Given the description of an element on the screen output the (x, y) to click on. 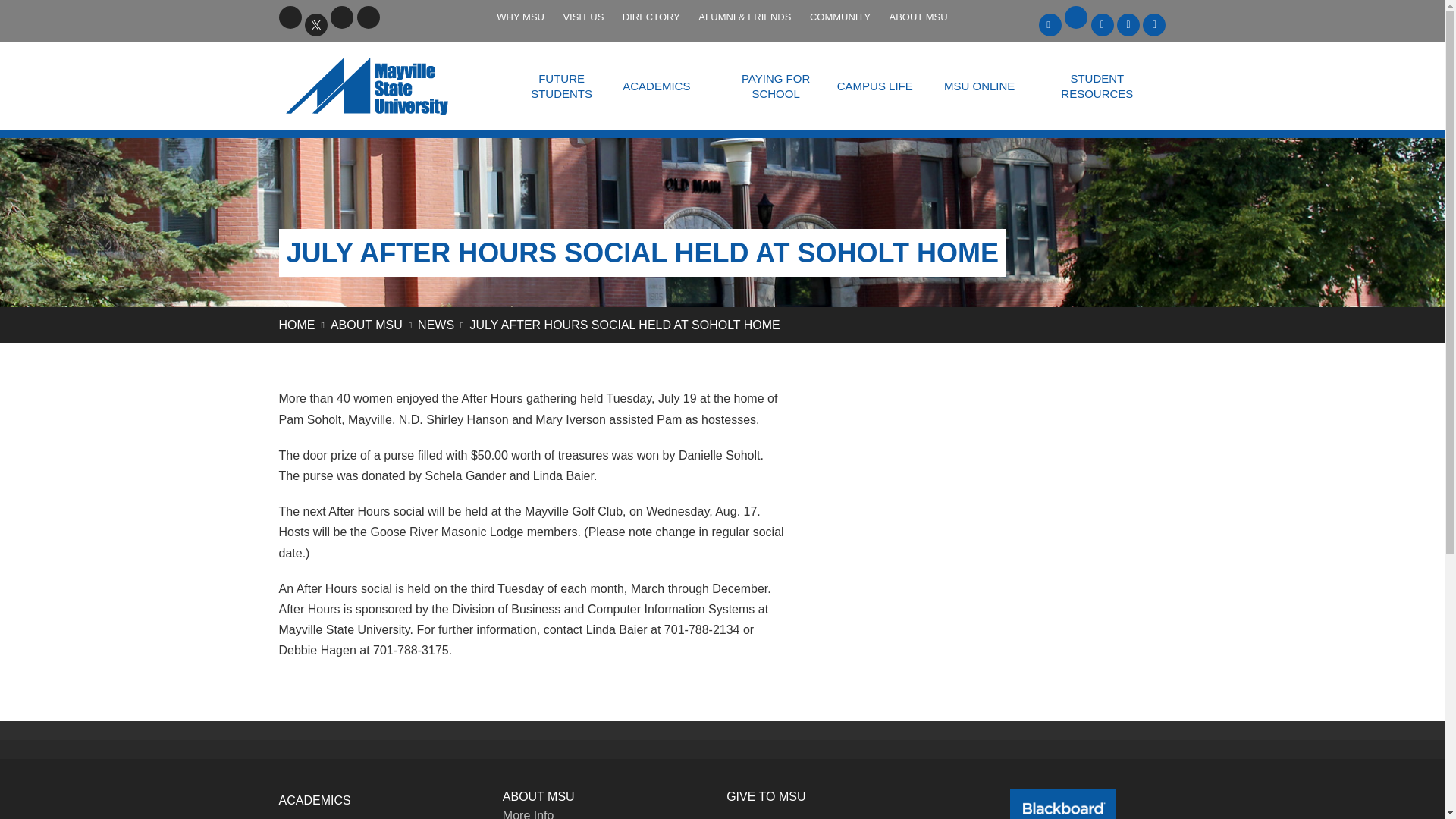
YouTube (341, 16)
Academics (314, 799)
About MSU (538, 796)
Mayville State University :: Mayville, ND (386, 86)
VISIT US (582, 16)
Instagram (368, 16)
Facebook (290, 16)
ACADEMICS (655, 86)
Search (394, 16)
COMMUNITY (839, 16)
DIRECTORY (650, 16)
July After Hours social held at Soholt home (625, 324)
News (435, 324)
WHY MSU (520, 16)
About MSU (366, 324)
